Given the description of an element on the screen output the (x, y) to click on. 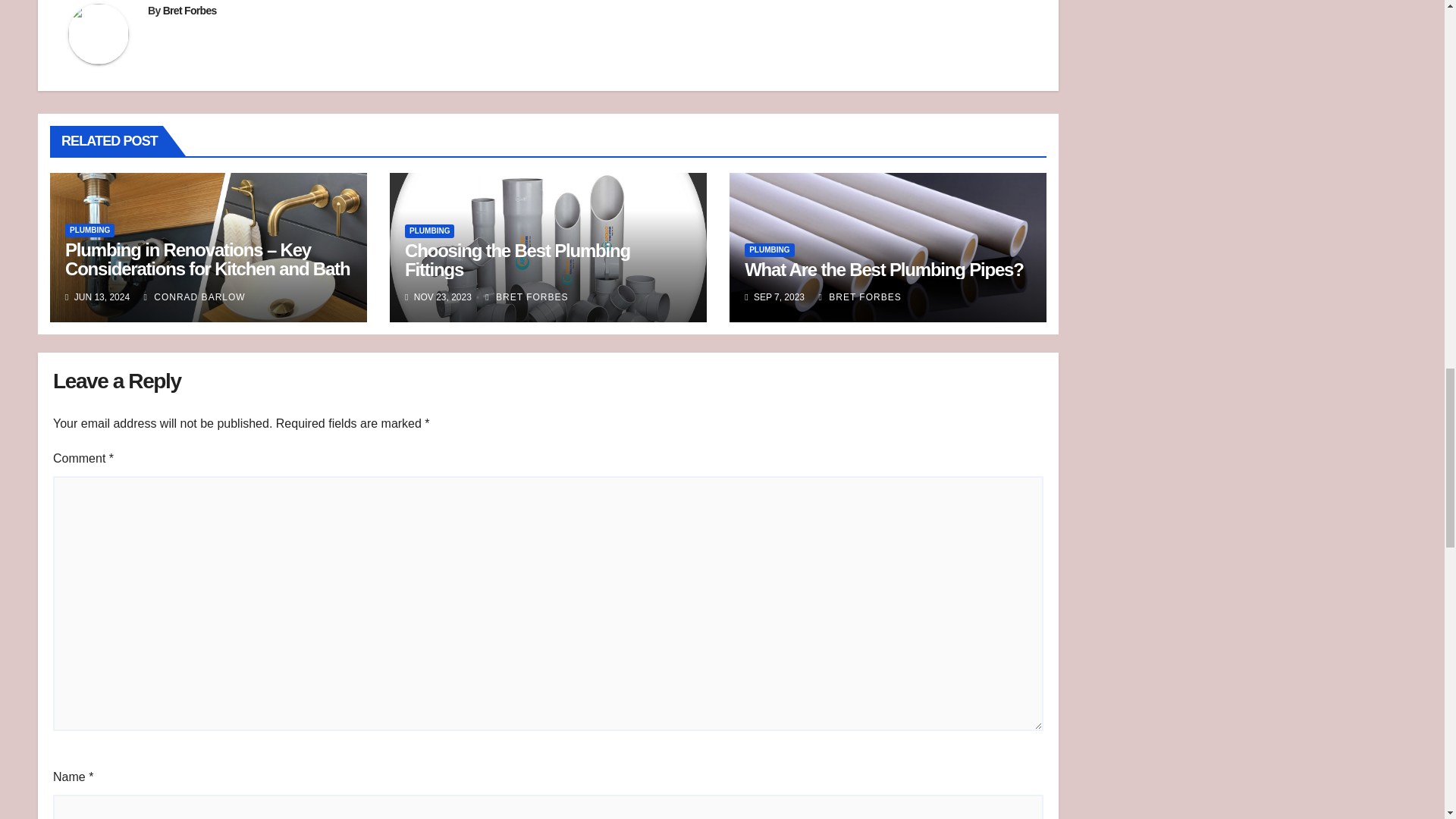
BRET FORBES (859, 296)
Choosing the Best Plumbing Fittings (517, 260)
Permalink to: What Are the Best Plumbing Pipes? (883, 269)
PLUMBING (90, 230)
Permalink to: Choosing the Best Plumbing Fittings (517, 260)
PLUMBING (429, 231)
CONRAD BARLOW (195, 296)
Bret Forbes (189, 10)
BRET FORBES (525, 296)
PLUMBING (768, 250)
What Are the Best Plumbing Pipes? (883, 269)
